Given the description of an element on the screen output the (x, y) to click on. 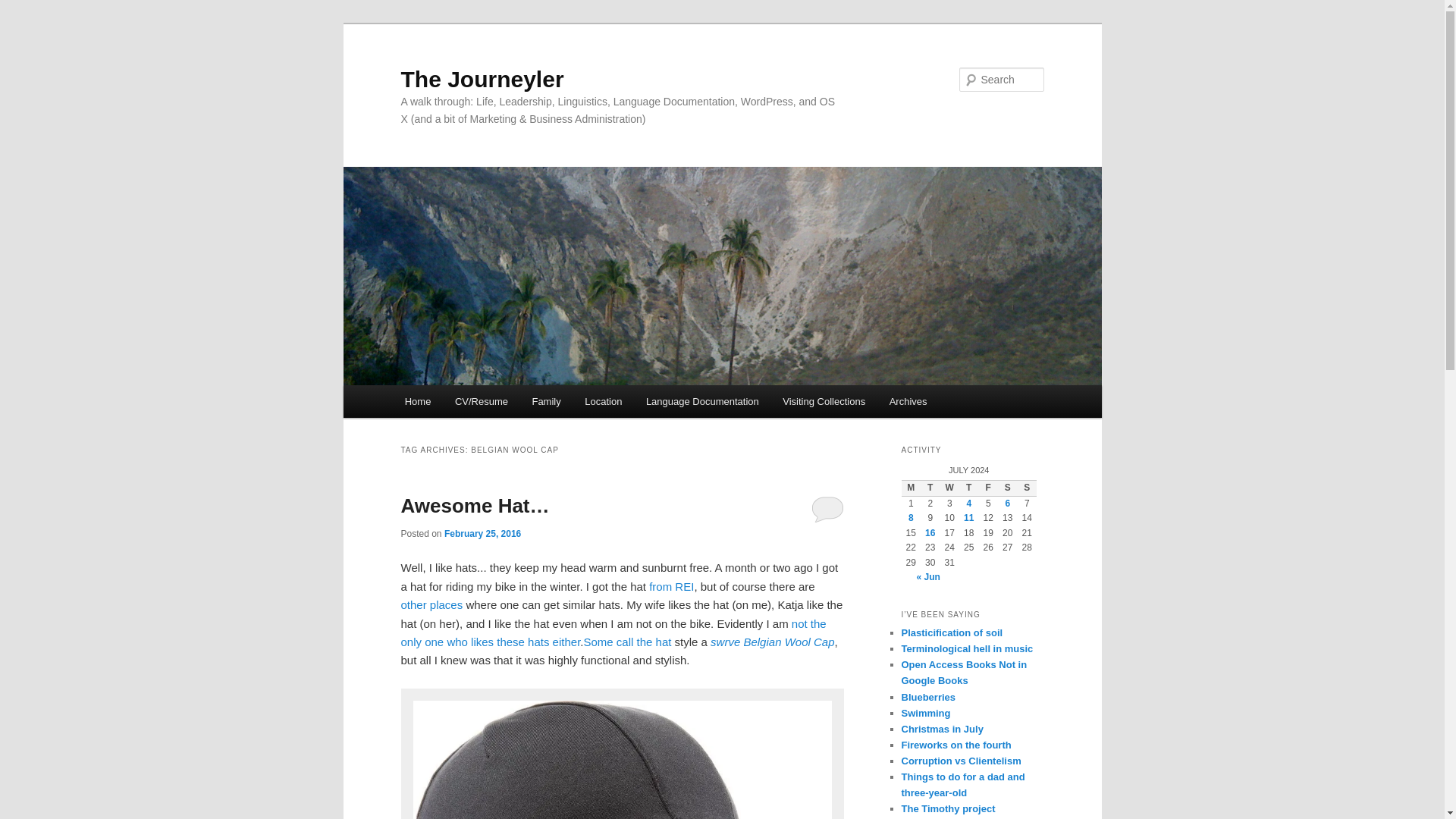
Tuesday (930, 487)
February 25, 2016 (482, 533)
Friday (987, 487)
Some call the hat (627, 641)
Thursday (968, 487)
8:09 pm (482, 533)
Resume (480, 400)
Archives (908, 400)
Home (417, 400)
Monday (910, 487)
not the only one who likes these hats either (612, 632)
Location (602, 400)
swrve Belgian Wool Cap (772, 641)
Saturday (1007, 487)
